Given the description of an element on the screen output the (x, y) to click on. 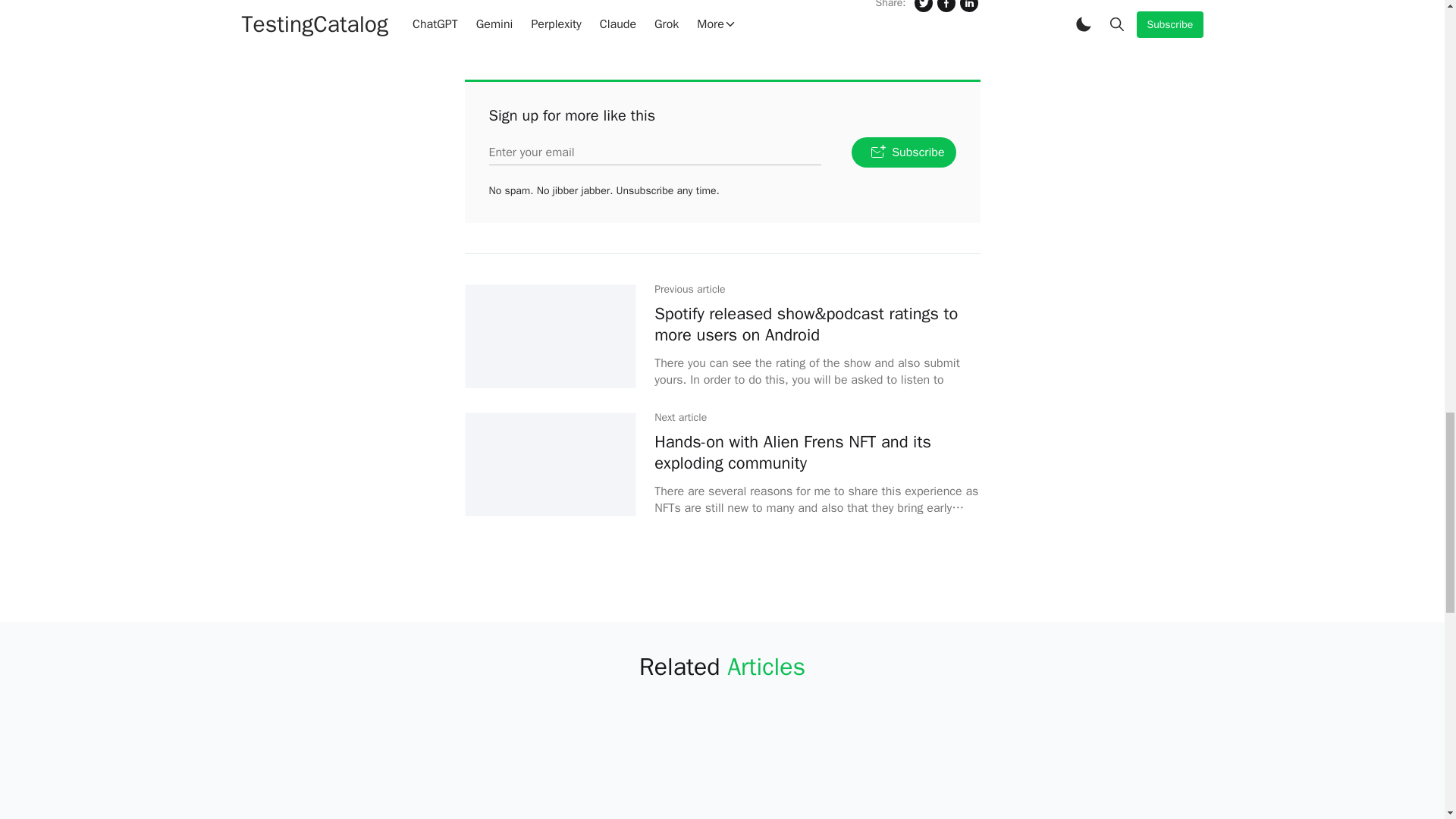
Share on Facebook (945, 7)
Share on Twitter (922, 7)
Share on Linkedin (967, 7)
